Given the description of an element on the screen output the (x, y) to click on. 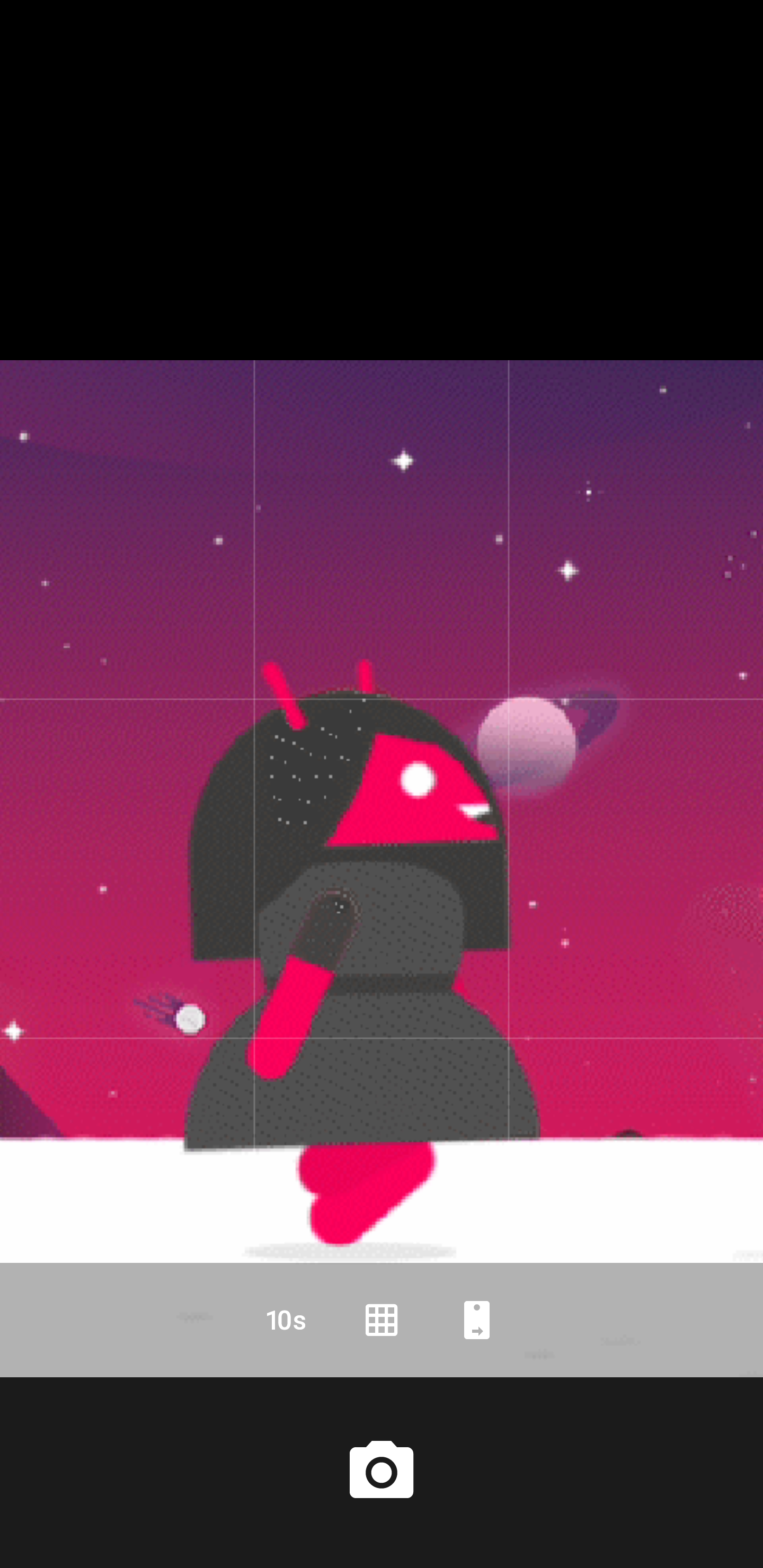
Countdown timer duration is set to 10 seconds (285, 1319)
Grid lines on (381, 1319)
Back camera (476, 1319)
Shutter (381, 1472)
